Given the description of an element on the screen output the (x, y) to click on. 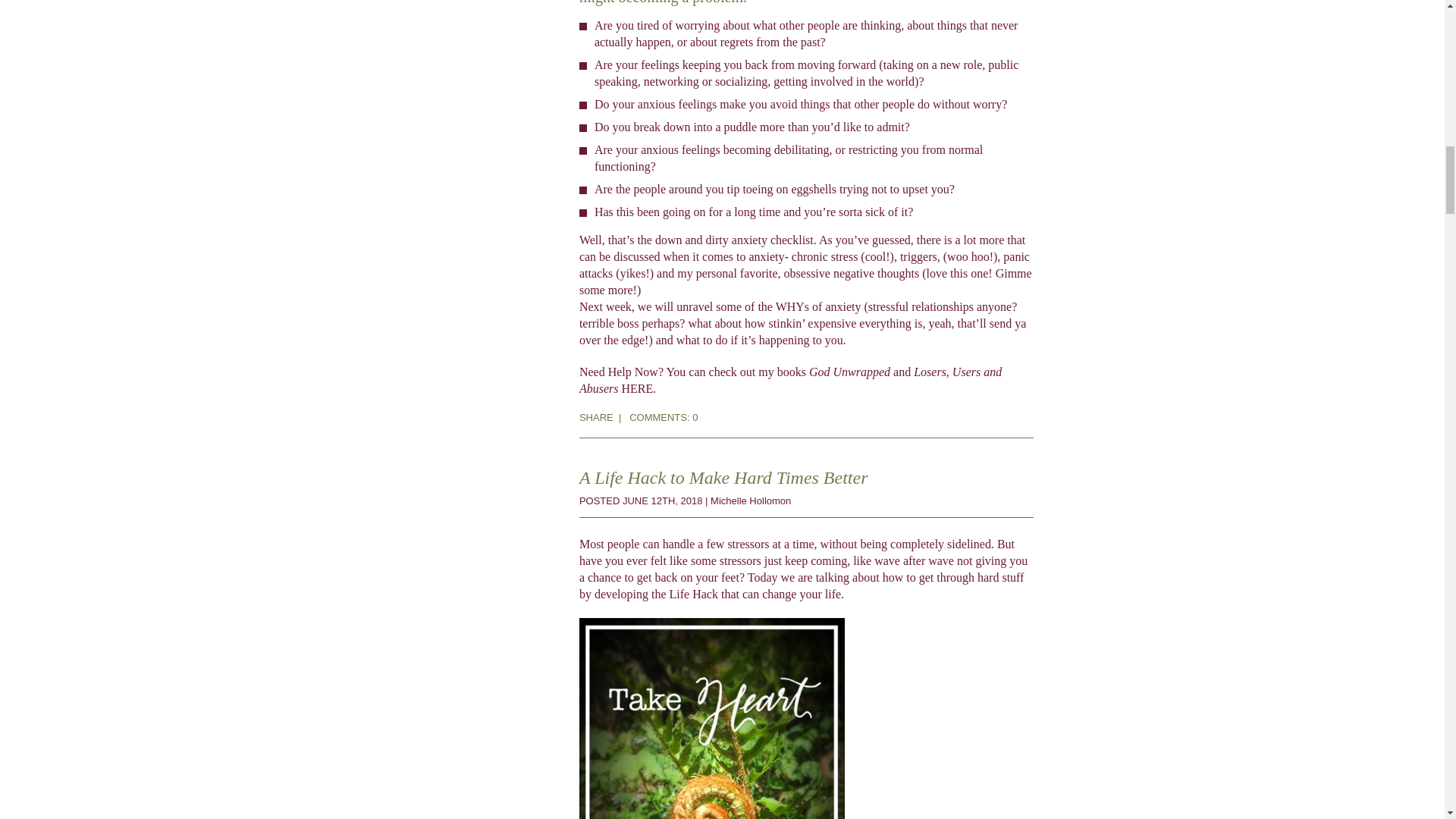
COMMENTS: 0 (662, 417)
A Life Hack to Make Hard Times Better (723, 477)
Are you Dealing with Anxiety? (662, 417)
A Life Hack to Make Hard Times Better (723, 477)
SHARE (595, 417)
